Given the description of an element on the screen output the (x, y) to click on. 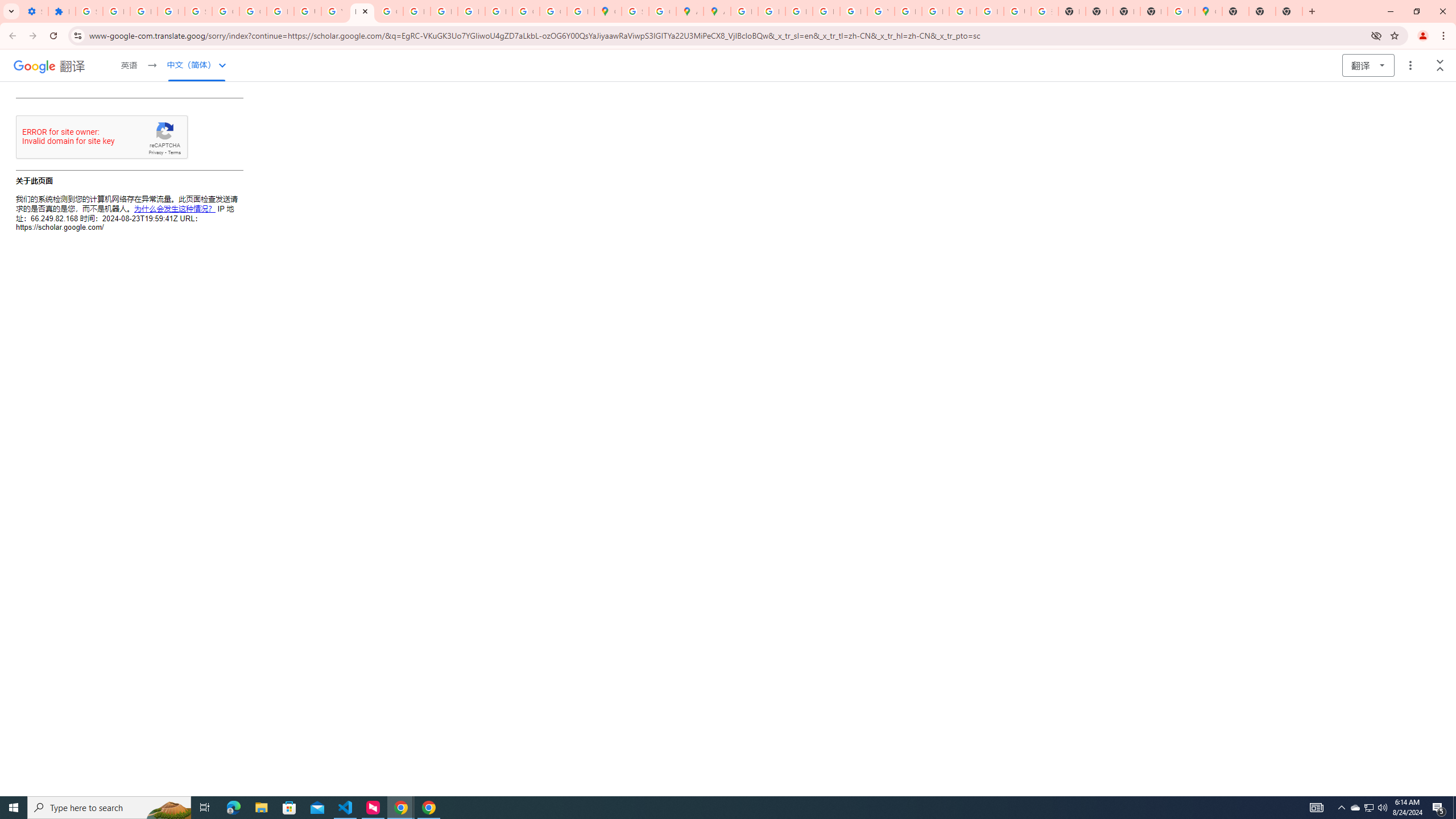
Google Maps (607, 11)
Delete photos & videos - Computer - Google Photos Help (116, 11)
